Given the description of an element on the screen output the (x, y) to click on. 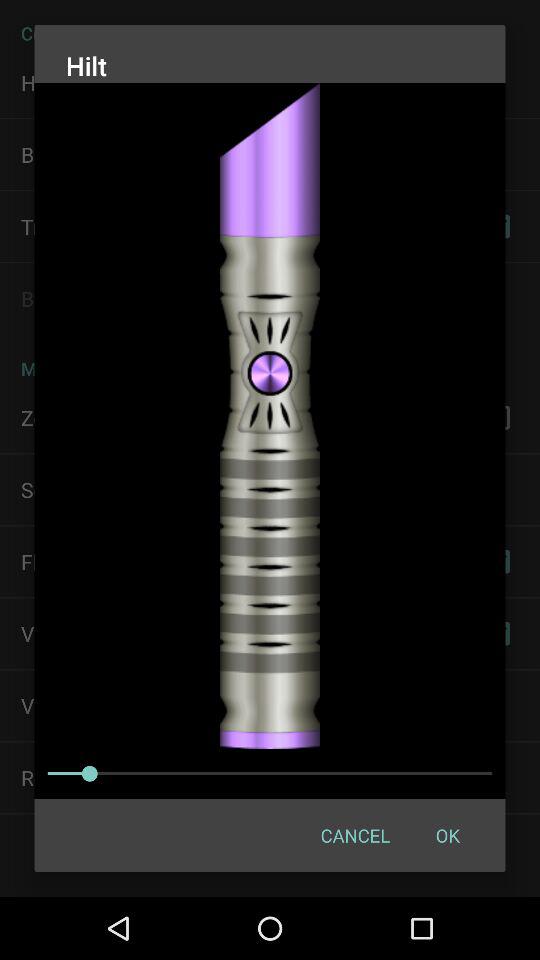
flip until ok (447, 834)
